Given the description of an element on the screen output the (x, y) to click on. 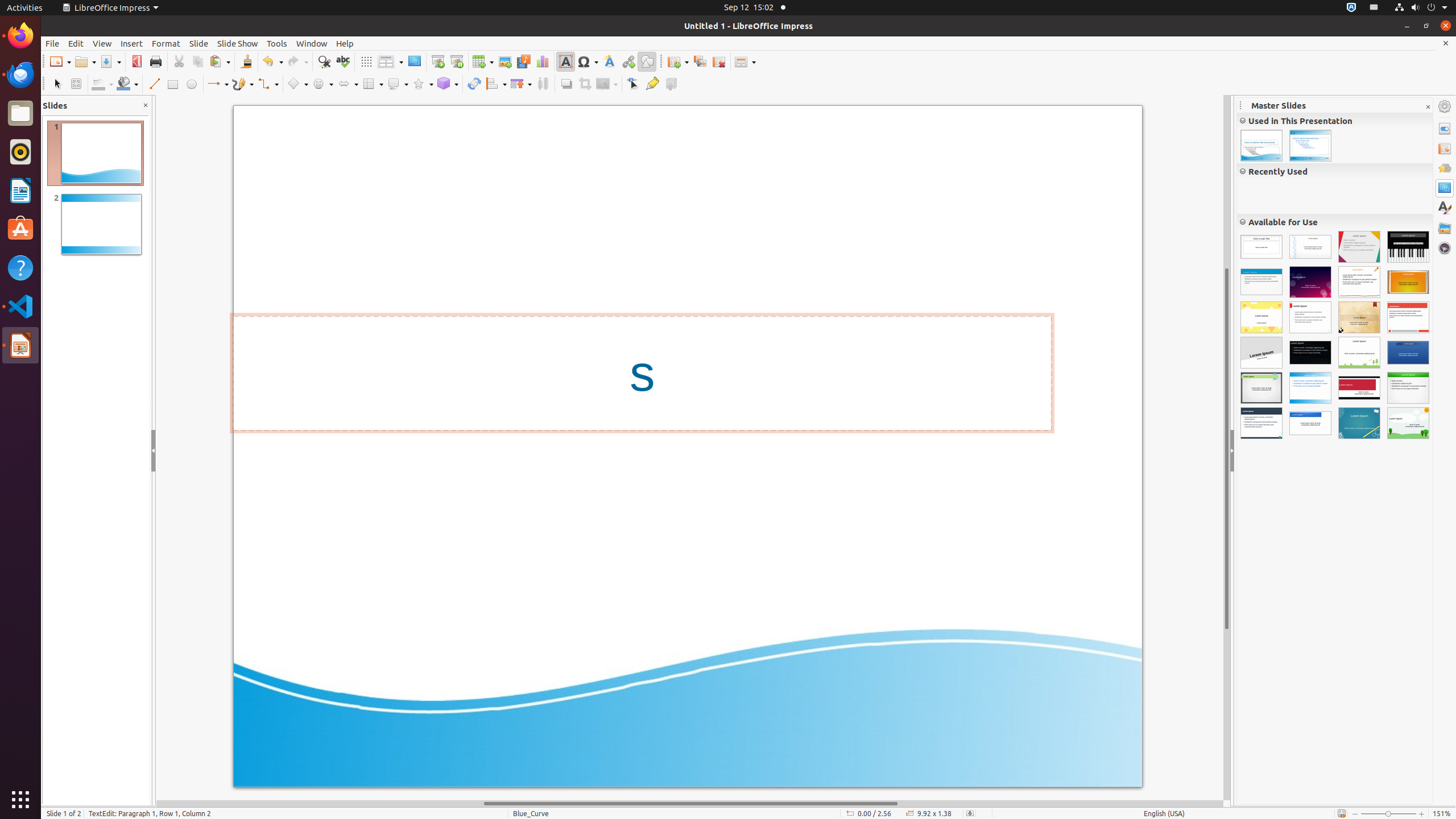
Display Views Element type: push-button (389, 61)
Classy Red Element type: list-item (1358, 387)
Default Element type: list-item (1261, 246)
Progress Element type: list-item (1261, 352)
Slide Element type: menu (198, 43)
